Given the description of an element on the screen output the (x, y) to click on. 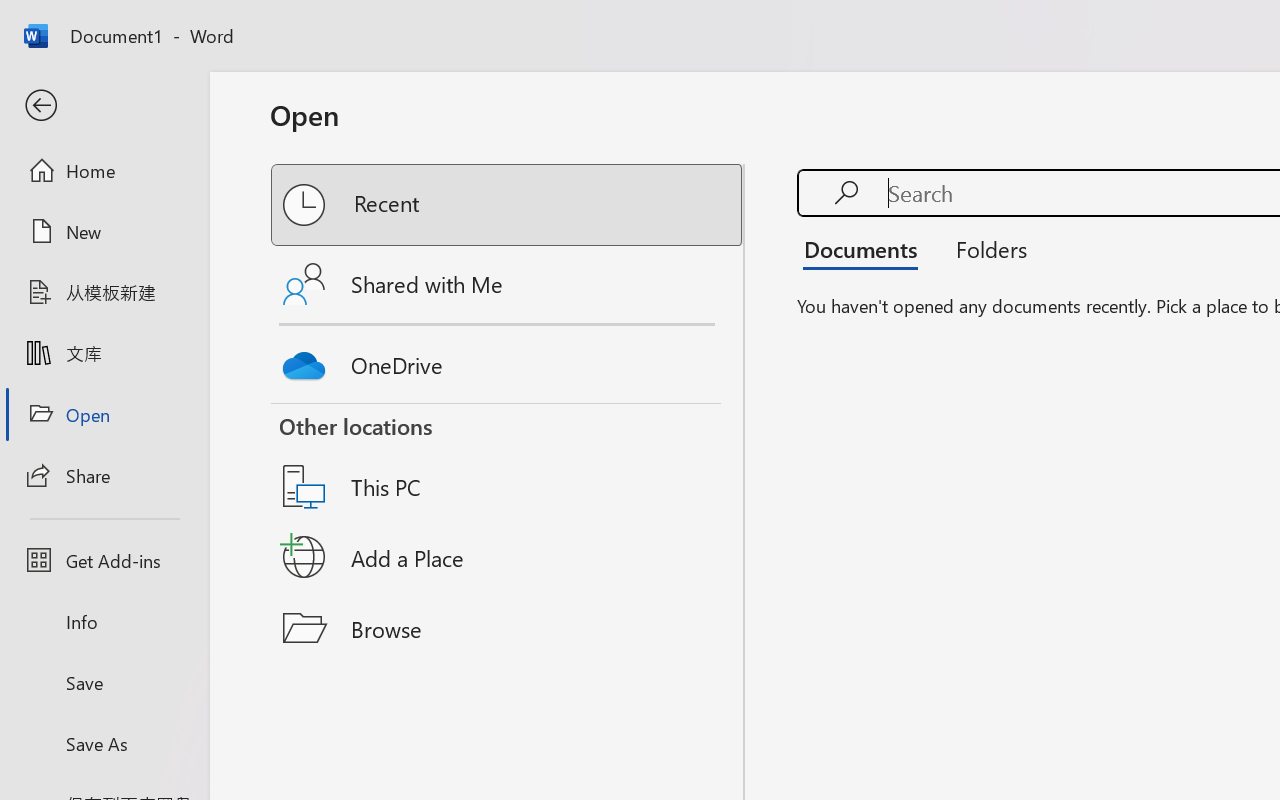
Folders (984, 248)
Browse (507, 627)
